Given the description of an element on the screen output the (x, y) to click on. 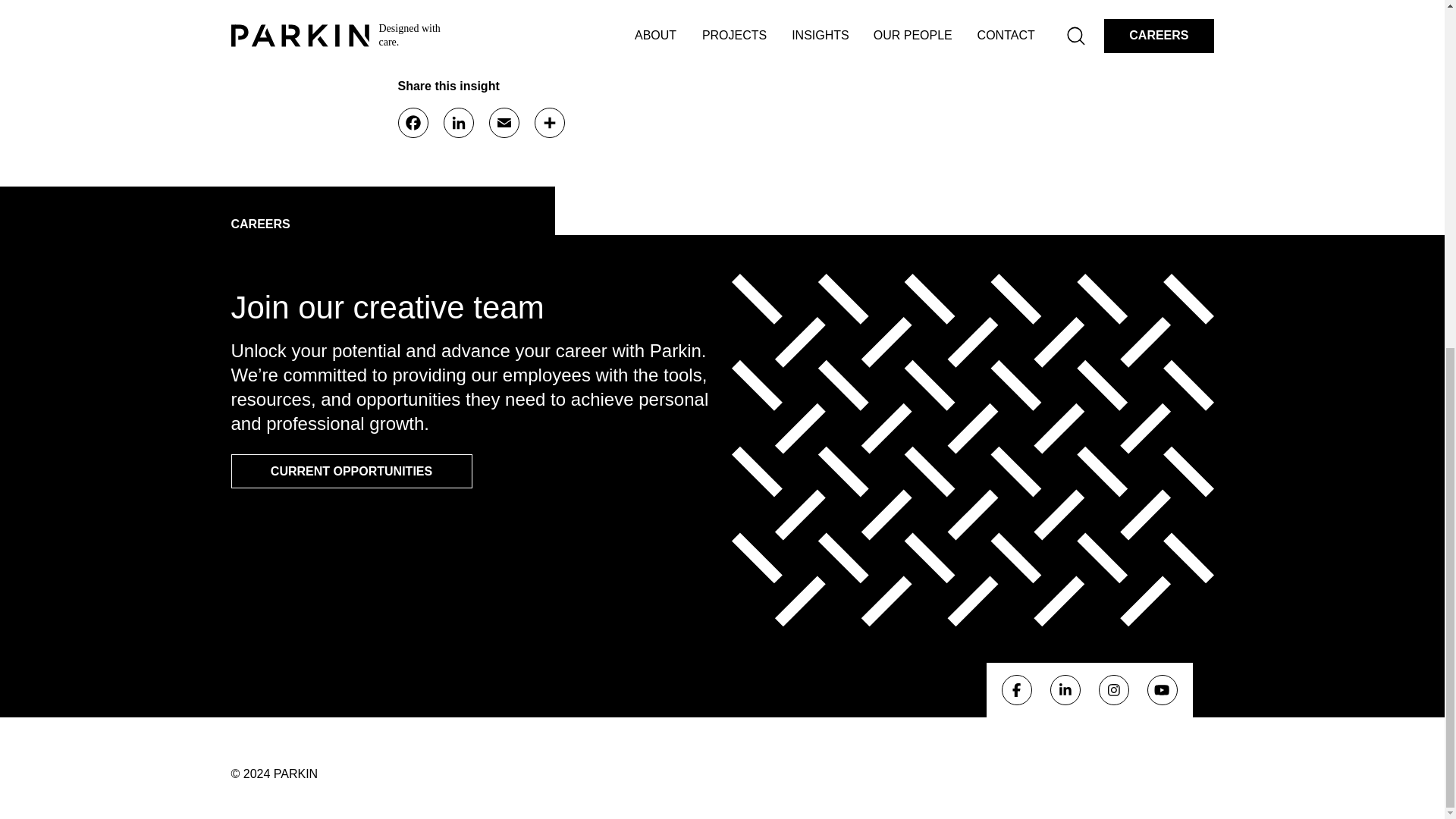
CURRENT OPPORTUNITIES (350, 471)
LinkedIn (457, 122)
Facebook (412, 122)
Youtube (1161, 689)
Facebook (1015, 689)
LinkedIn (457, 122)
Youtube (1161, 689)
Instagram (1112, 689)
Email (502, 122)
Linked-In (1064, 689)
Email (502, 122)
Facebook (412, 122)
